Given the description of an element on the screen output the (x, y) to click on. 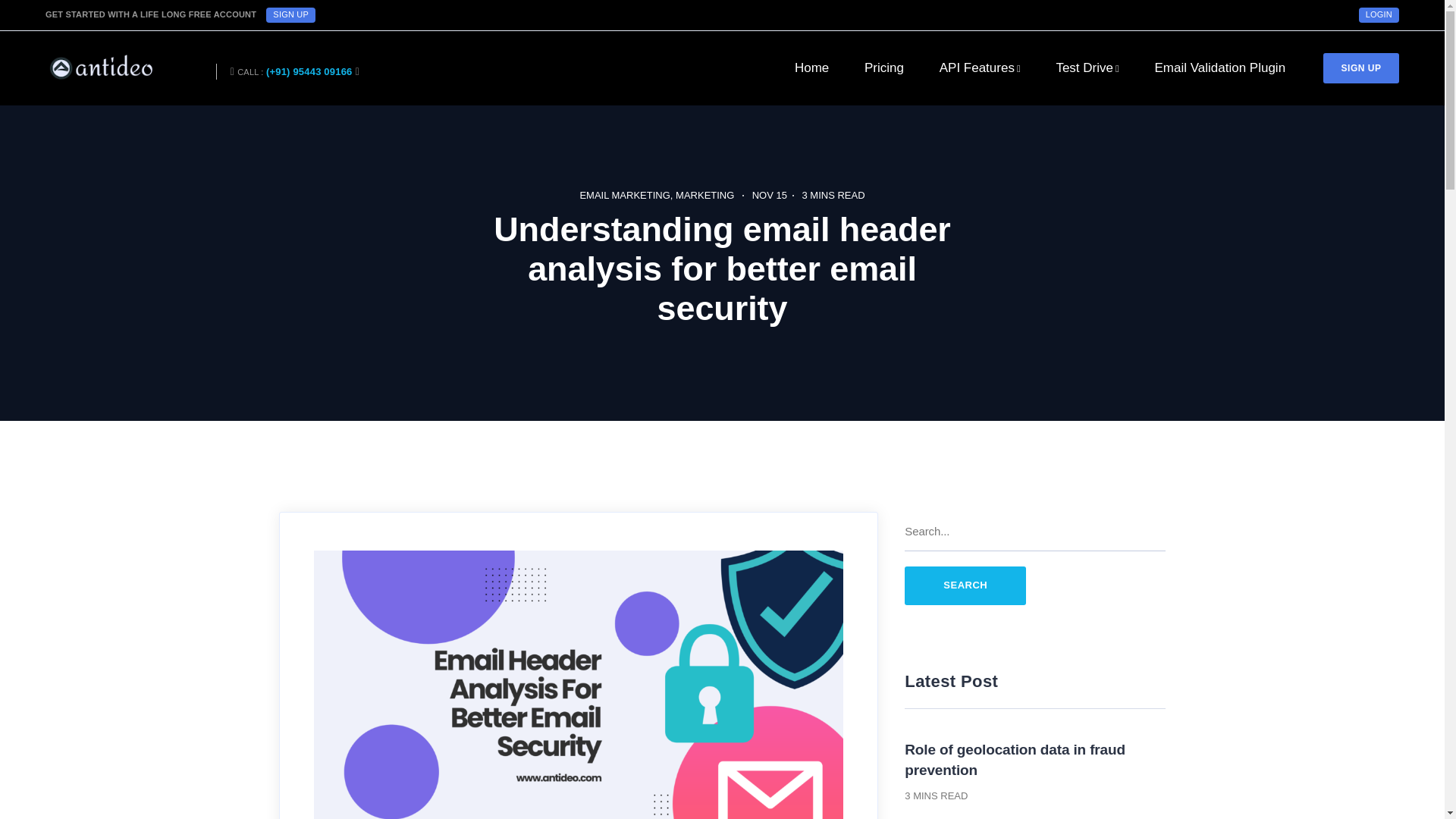
LOGIN (1378, 14)
Role of geolocation data in fraud prevention (1014, 760)
Test Drive (1086, 68)
API Features (979, 68)
Search (965, 585)
Search (965, 585)
SIGN UP (290, 14)
SIGN UP (1361, 68)
MARKETING (704, 194)
EMAIL MARKETING (625, 194)
